Given the description of an element on the screen output the (x, y) to click on. 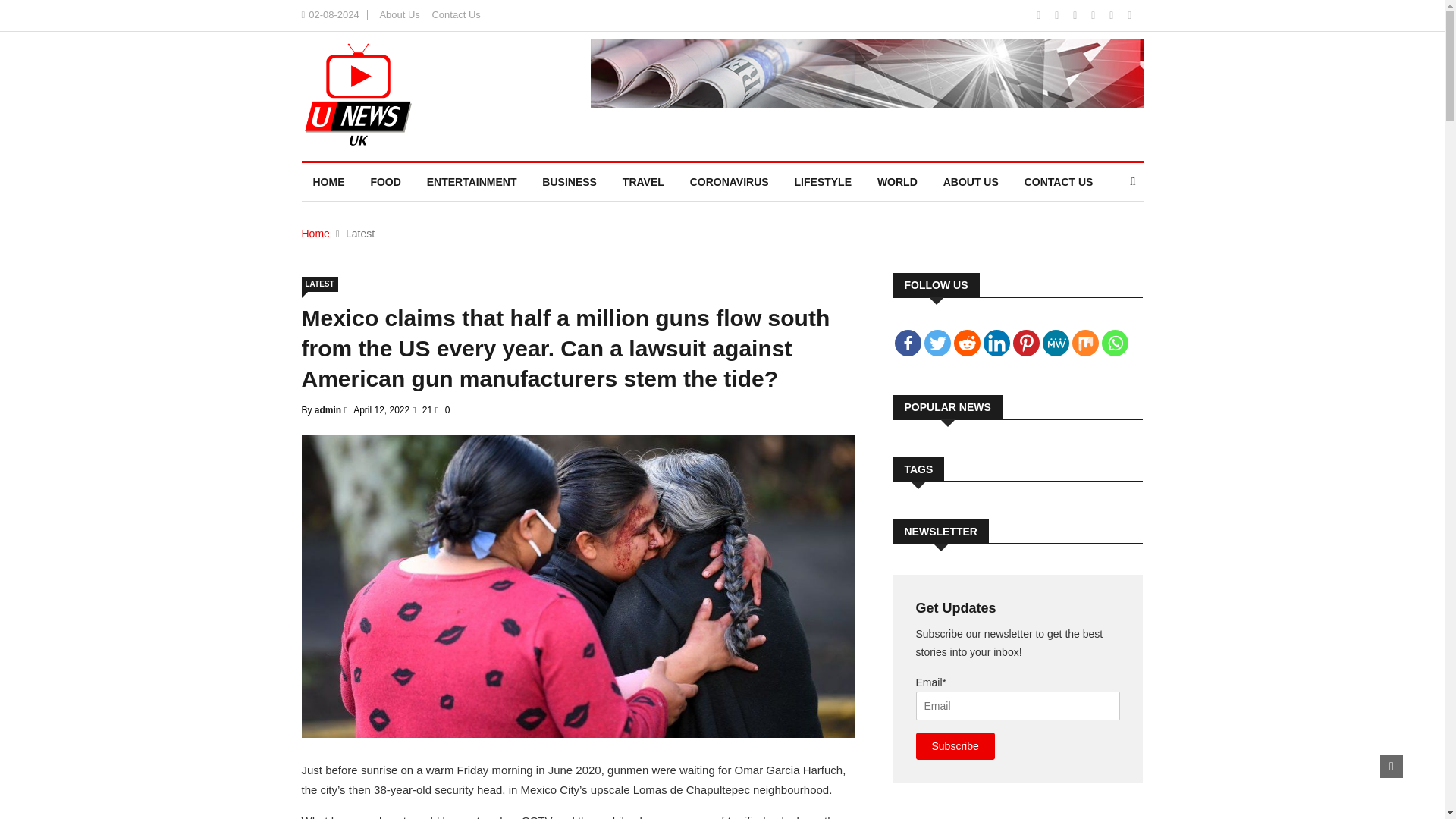
ABOUT US (970, 181)
BUSINESS (569, 181)
LATEST (319, 283)
Facebook (908, 343)
Twitter (936, 343)
Pinterest (1026, 343)
TRAVEL (643, 181)
FOOD (385, 181)
Linkedin (995, 343)
Home (315, 233)
ENTERTAINMENT (471, 181)
MeWe (1055, 343)
Reddit (966, 343)
Contact Us (455, 14)
Subscribe (954, 746)
